Given the description of an element on the screen output the (x, y) to click on. 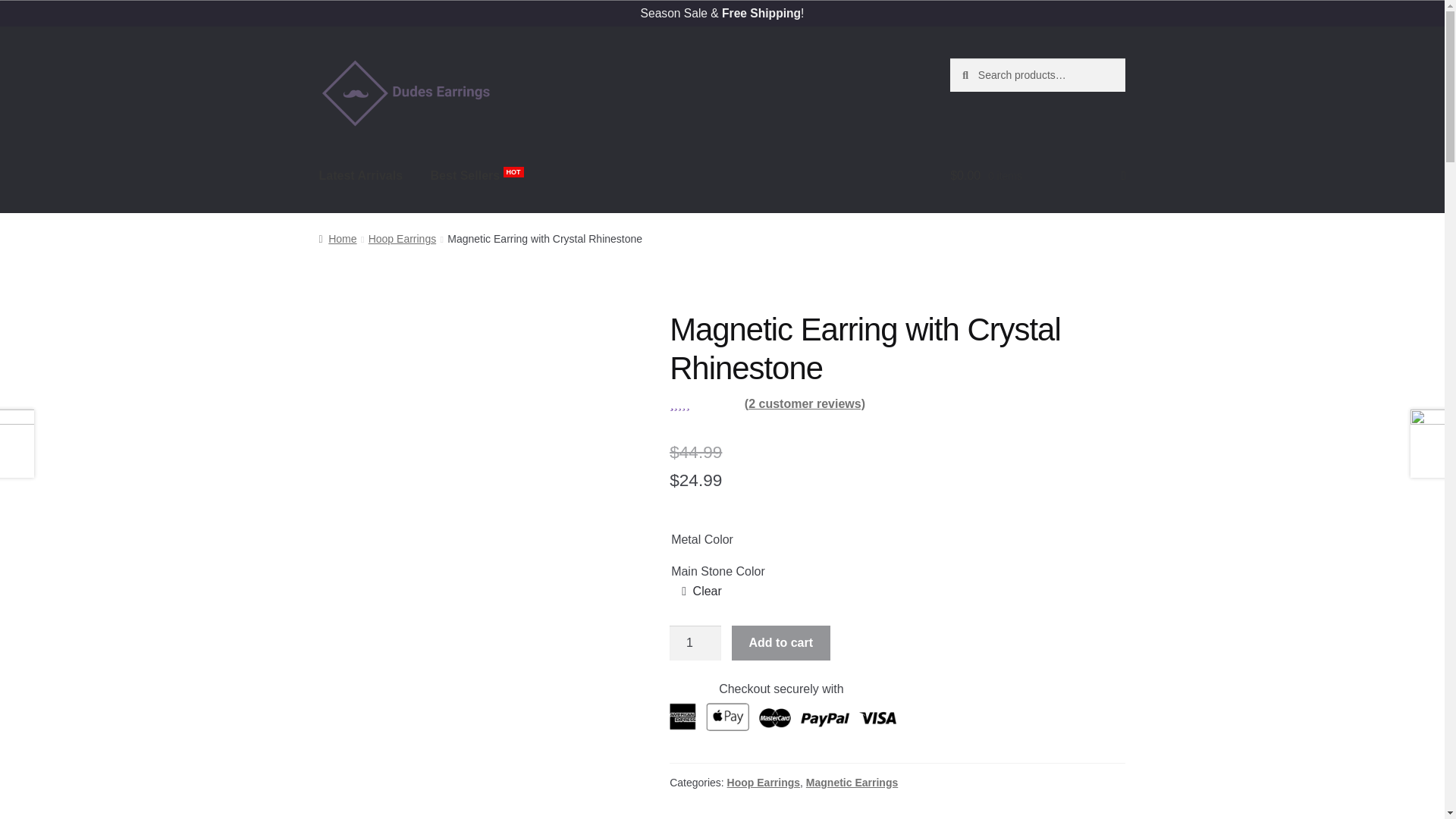
Hoop Earrings (402, 238)
Home (337, 238)
Add to cart (780, 642)
1 (694, 642)
Magnetic Earrings (852, 782)
Clear (701, 591)
Hoop Earrings (762, 782)
Best Sellers HOT (477, 175)
View your shopping cart (1037, 175)
Latest Arrivals (360, 175)
